Given the description of an element on the screen output the (x, y) to click on. 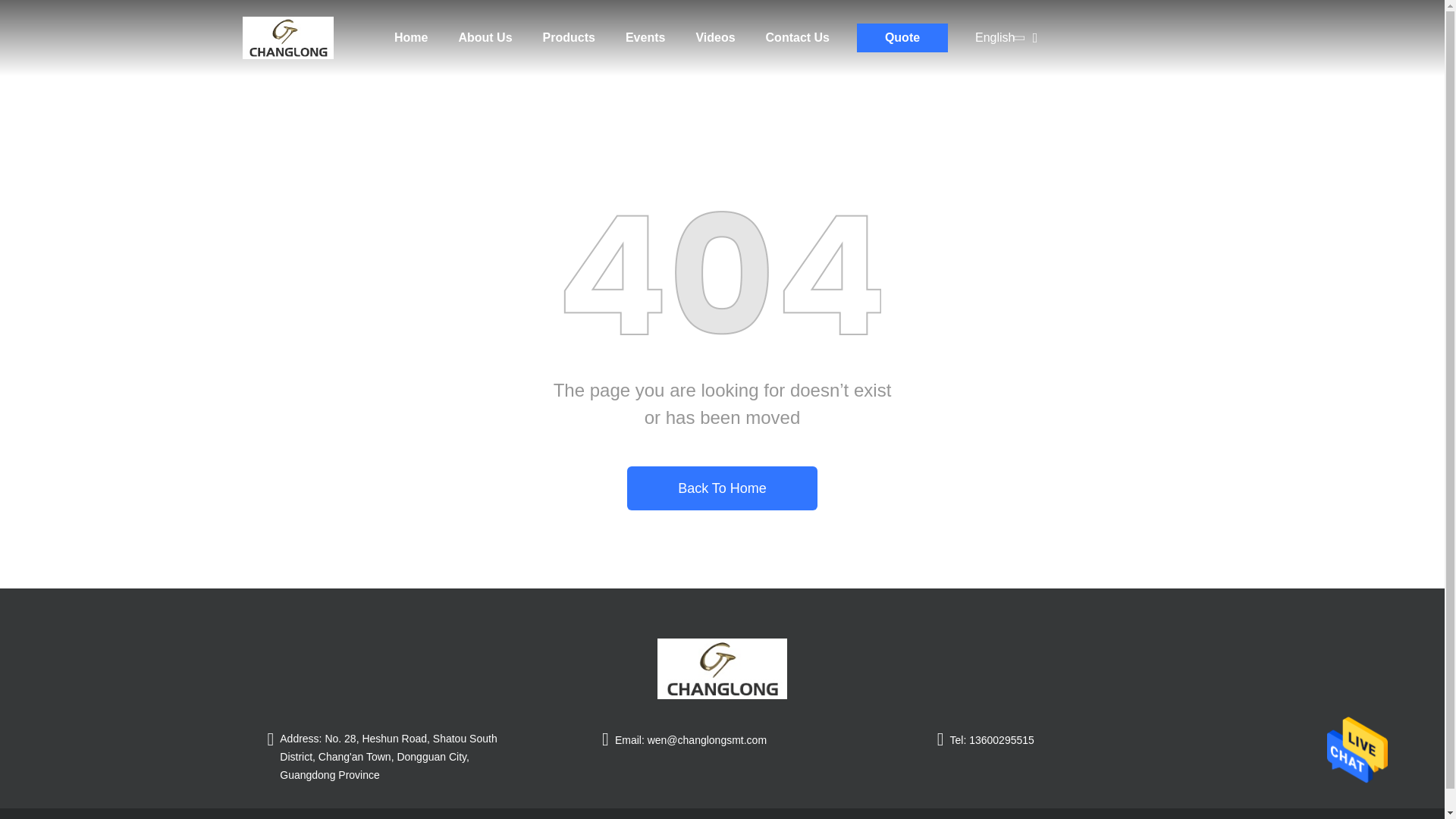
Home (288, 37)
Quote (902, 37)
